Given the description of an element on the screen output the (x, y) to click on. 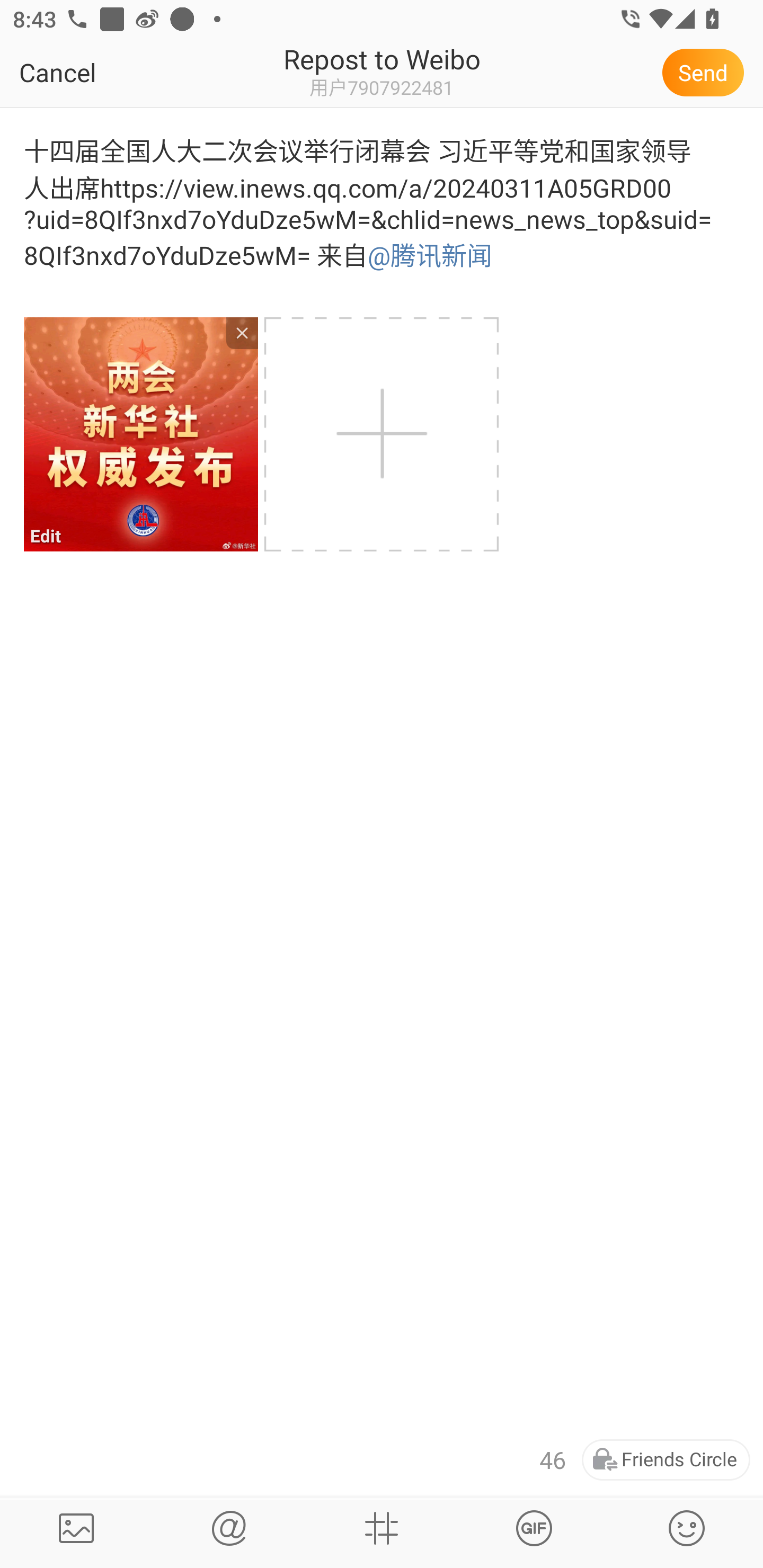
Cancel (99, 71)
Send (706, 71)
Edit (140, 433)
Meyou Friends Circle (665, 1459)
46 Number of words available: (552, 1459)
Pictures Upload (76, 1527)
Search (228, 1527)
Topics, movies, books, songs, places, stocks (381, 1527)
Topics, movies, books, songs, places, stocks (533, 1527)
请插入表情 (686, 1527)
